Given the description of an element on the screen output the (x, y) to click on. 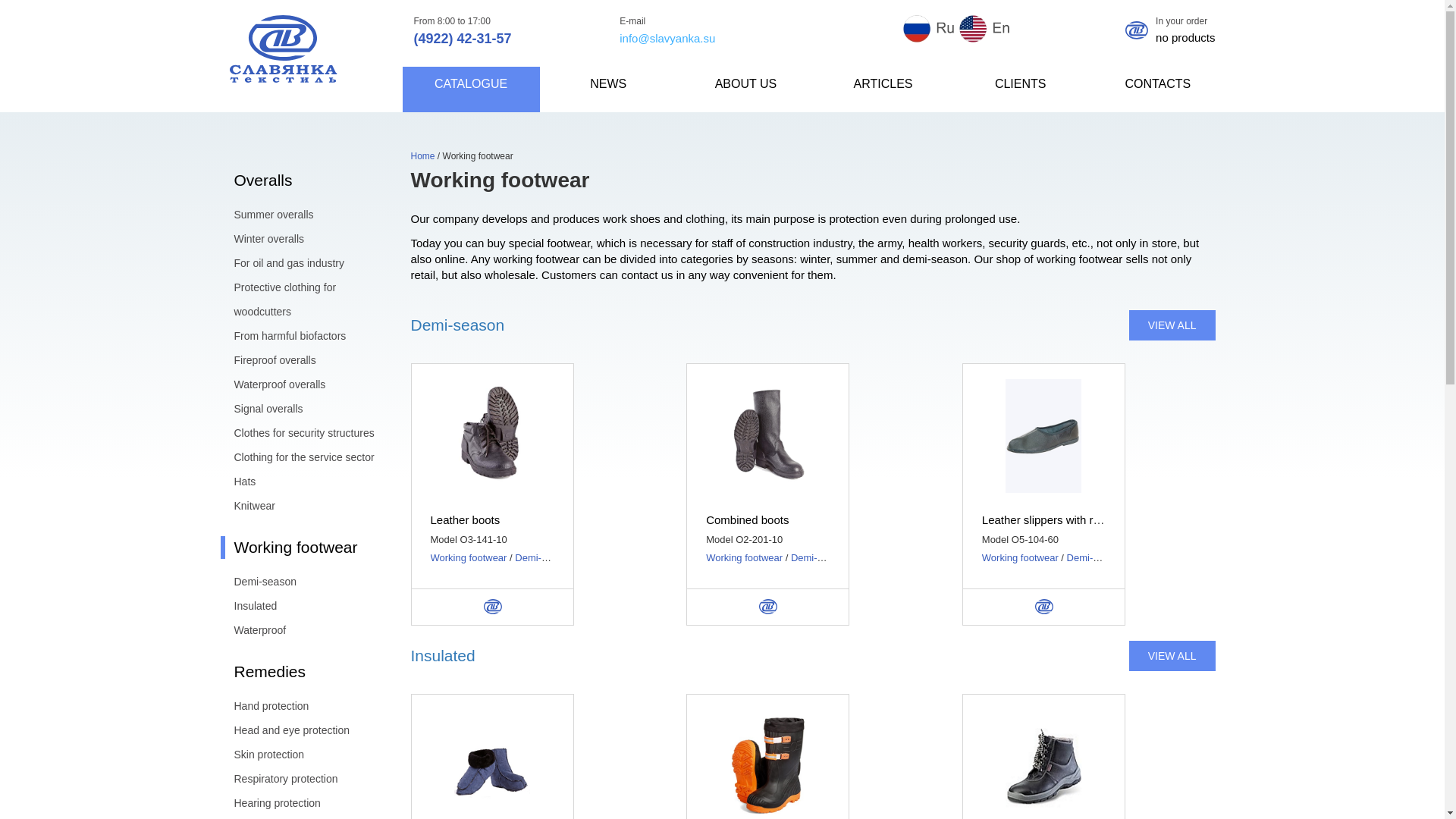
Remedies (300, 671)
Head and eye protection (300, 730)
CONTACTS (1157, 89)
Protective clothing for woodcutters (300, 299)
Demi-season (300, 581)
Home (422, 155)
ARTICLES (882, 89)
For oil and gas industry (300, 262)
Clothes for security structures (300, 432)
Hats (300, 481)
